Given the description of an element on the screen output the (x, y) to click on. 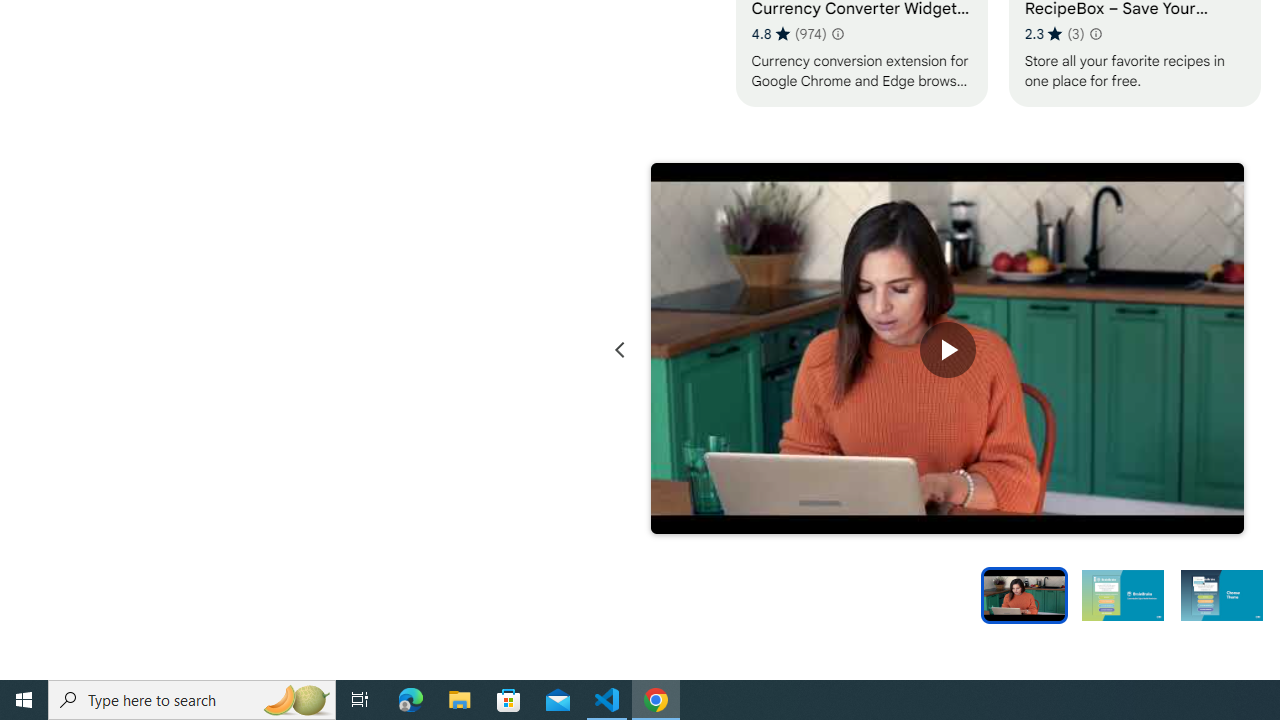
Item media 1 video (947, 349)
Previous slide (619, 349)
Average rating 4.8 out of 5 stars. 974 ratings. (788, 33)
Preview slide 3 (1222, 594)
Item video thumbnail (1024, 594)
Average rating 2.3 out of 5 stars. 3 ratings. (1054, 33)
Preview slide 1 (1024, 594)
Preview slide 2 (1122, 594)
